Given the description of an element on the screen output the (x, y) to click on. 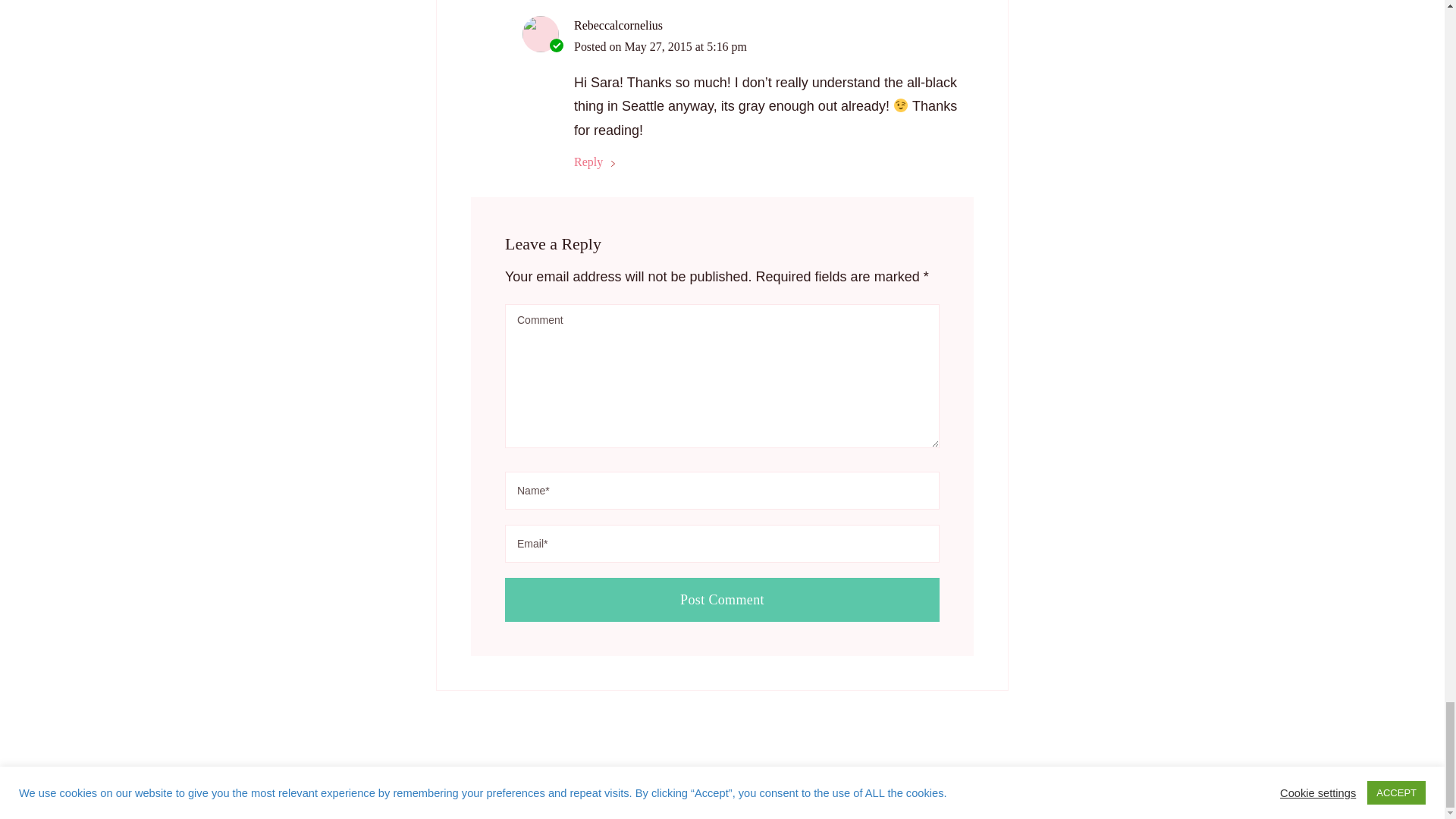
Post Comment (722, 599)
